Given the description of an element on the screen output the (x, y) to click on. 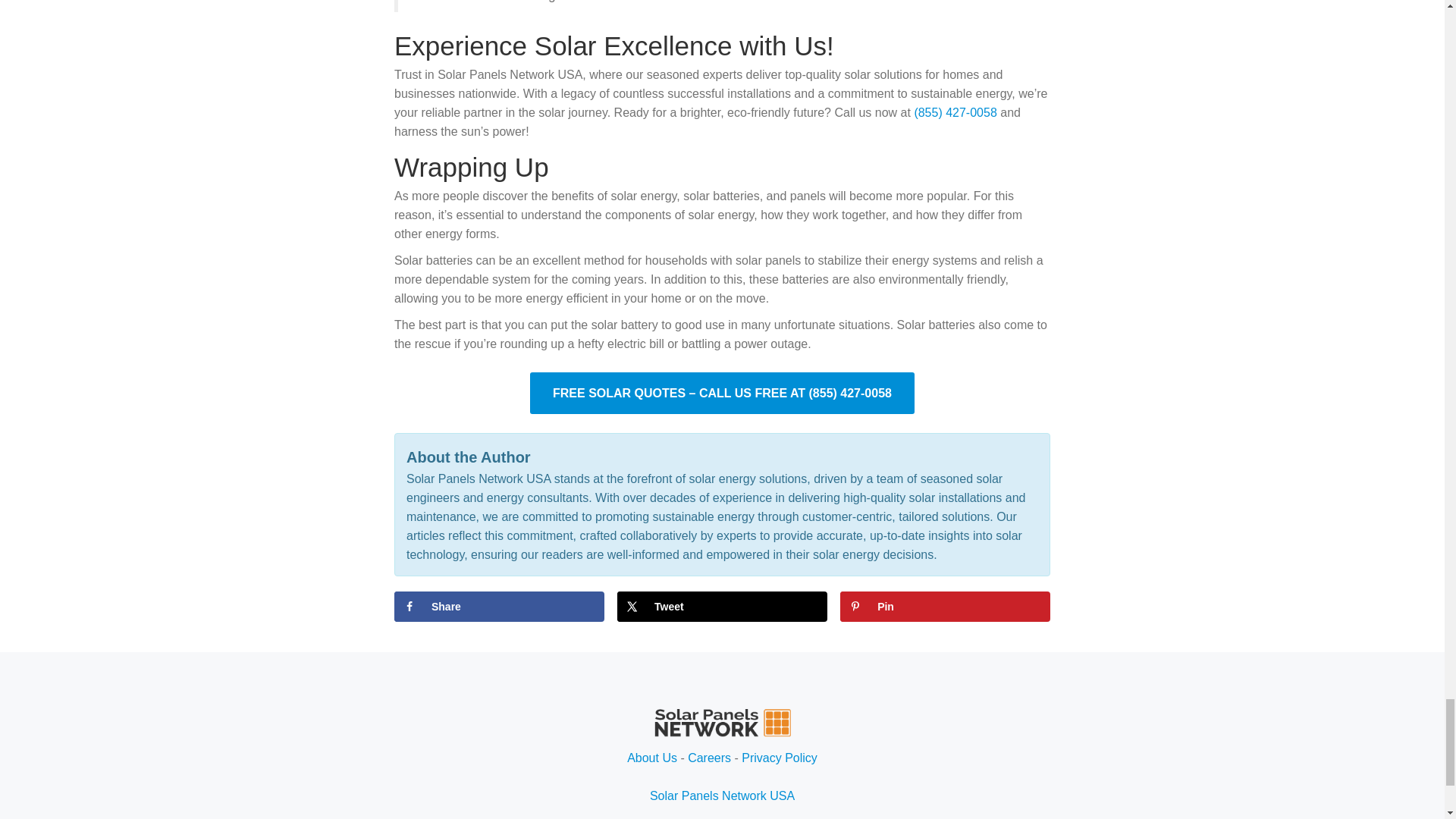
Share on X (722, 606)
Share on Facebook (499, 606)
Save to Pinterest (944, 606)
